Given the description of an element on the screen output the (x, y) to click on. 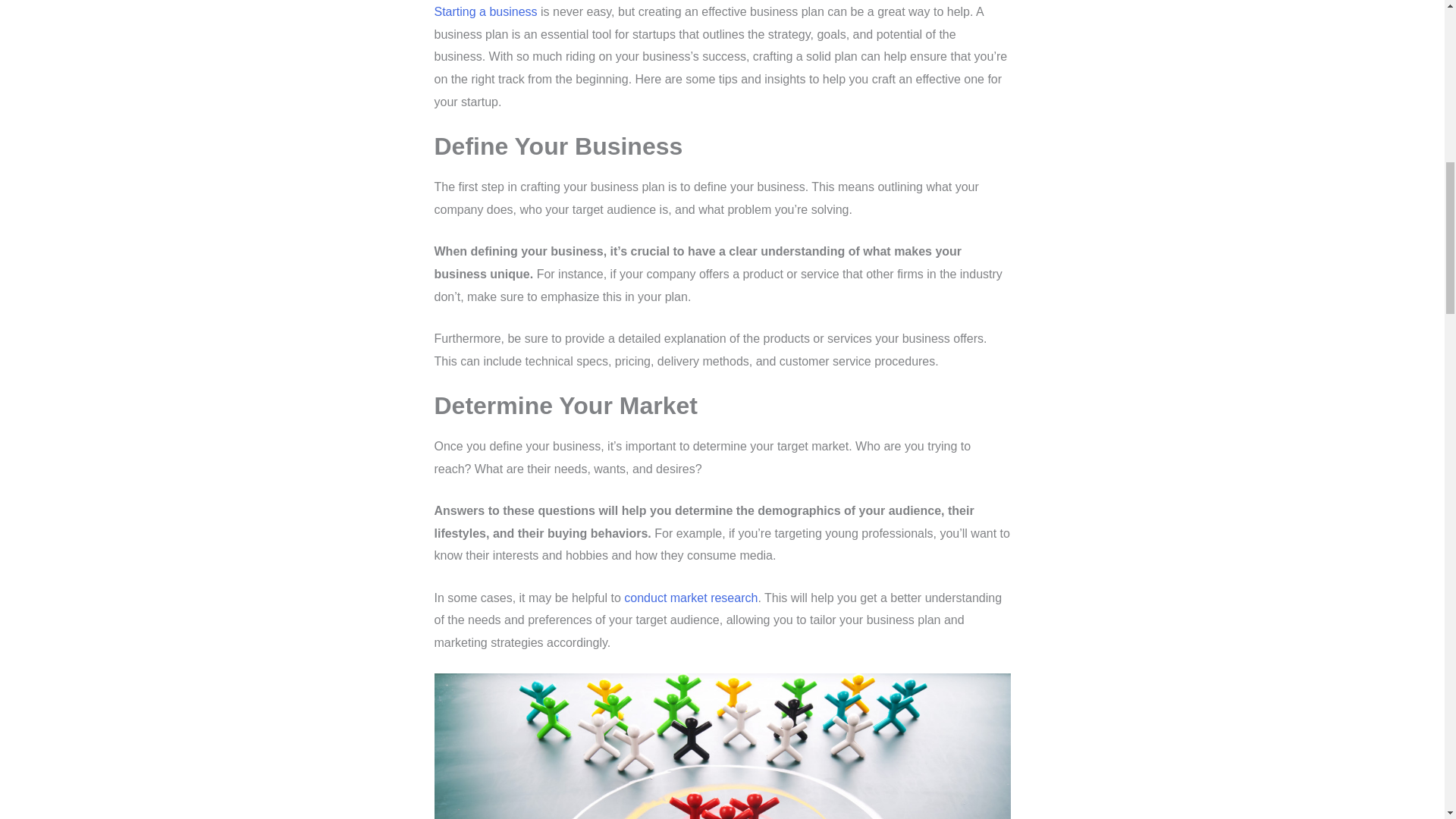
target market (721, 746)
conduct market research (690, 597)
Starting a business (485, 11)
